Given the description of an element on the screen output the (x, y) to click on. 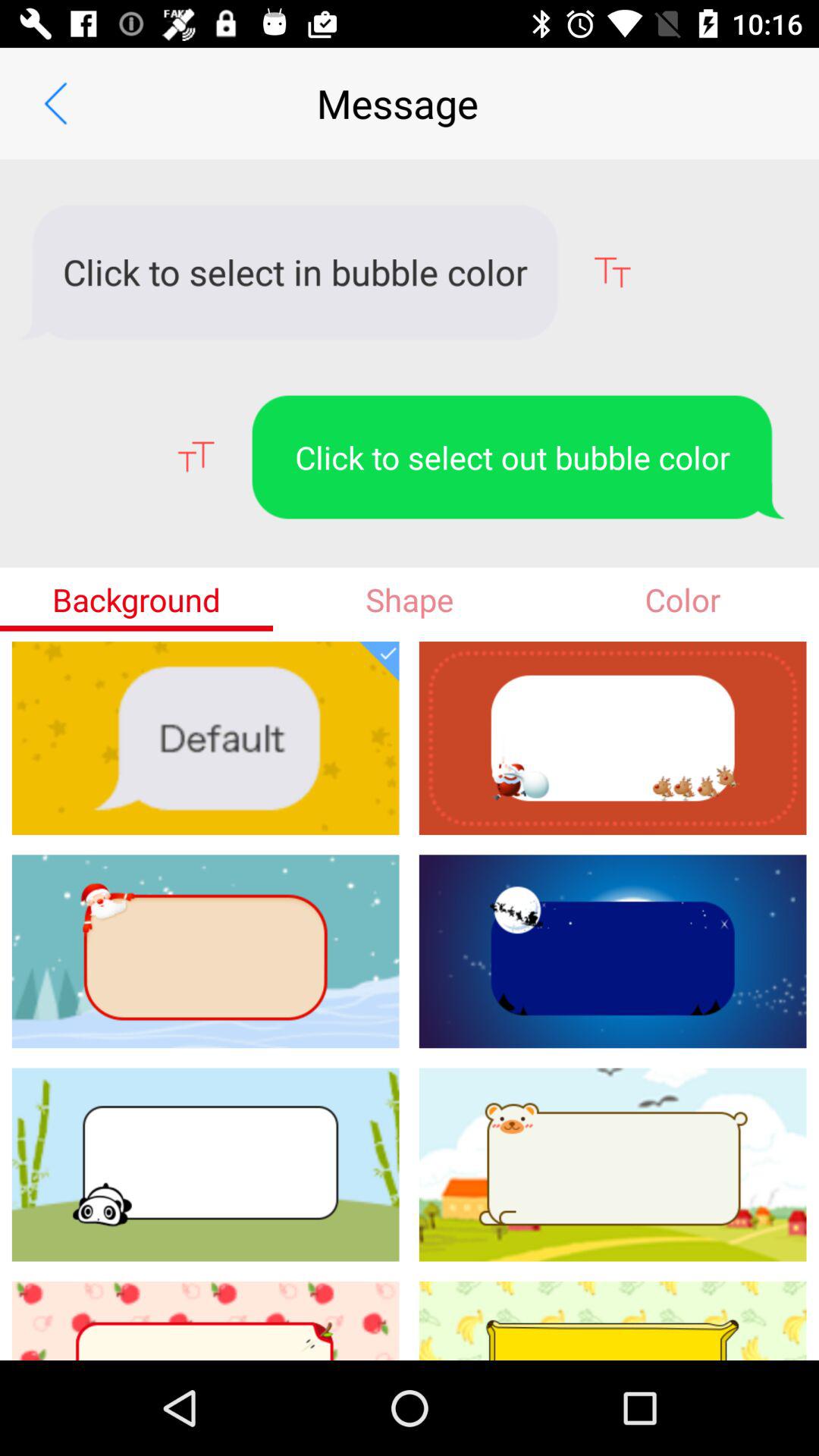
press app to the left of the message item (55, 103)
